Given the description of an element on the screen output the (x, y) to click on. 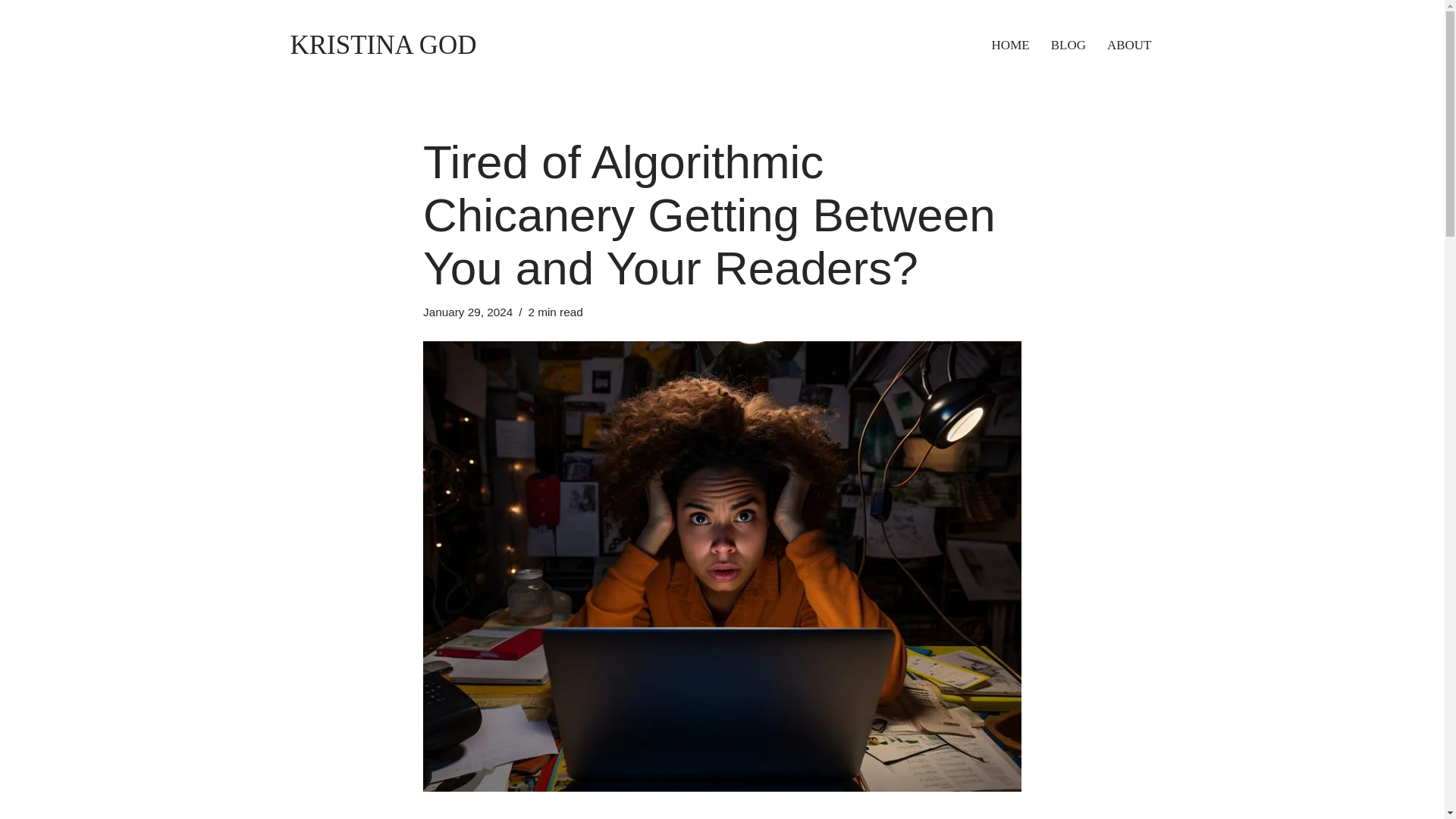
BLOG (1068, 44)
HOME (1010, 44)
ABOUT (1128, 44)
KRISTINA GOD (382, 45)
Skip to content (11, 31)
